Given the description of an element on the screen output the (x, y) to click on. 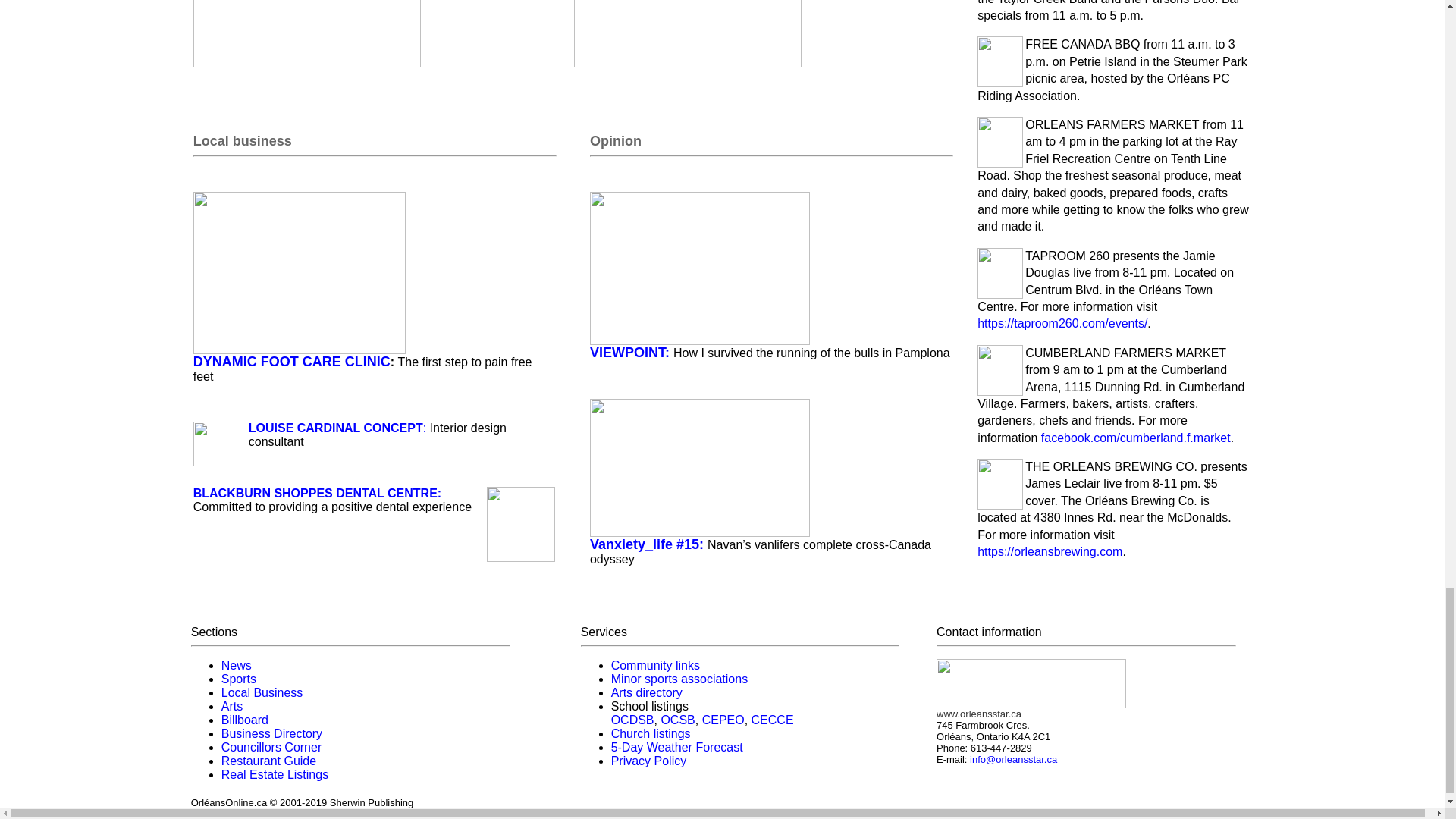
Community links (655, 665)
Councillors Corner (271, 747)
VIEWPOINT: (630, 352)
DYNAMIC FOOT CARE CLINIC (291, 361)
Local Business (261, 692)
Sports (238, 678)
News (236, 665)
Business Directory (271, 733)
Billboard (244, 719)
LOUISE CARDINAL CONCEPT (335, 427)
Real Estate Listings (275, 774)
: (424, 427)
Restaurant Guide (268, 760)
Arts (232, 706)
BLACKBURN SHOPPES DENTAL CENTRE: (317, 492)
